Given the description of an element on the screen output the (x, y) to click on. 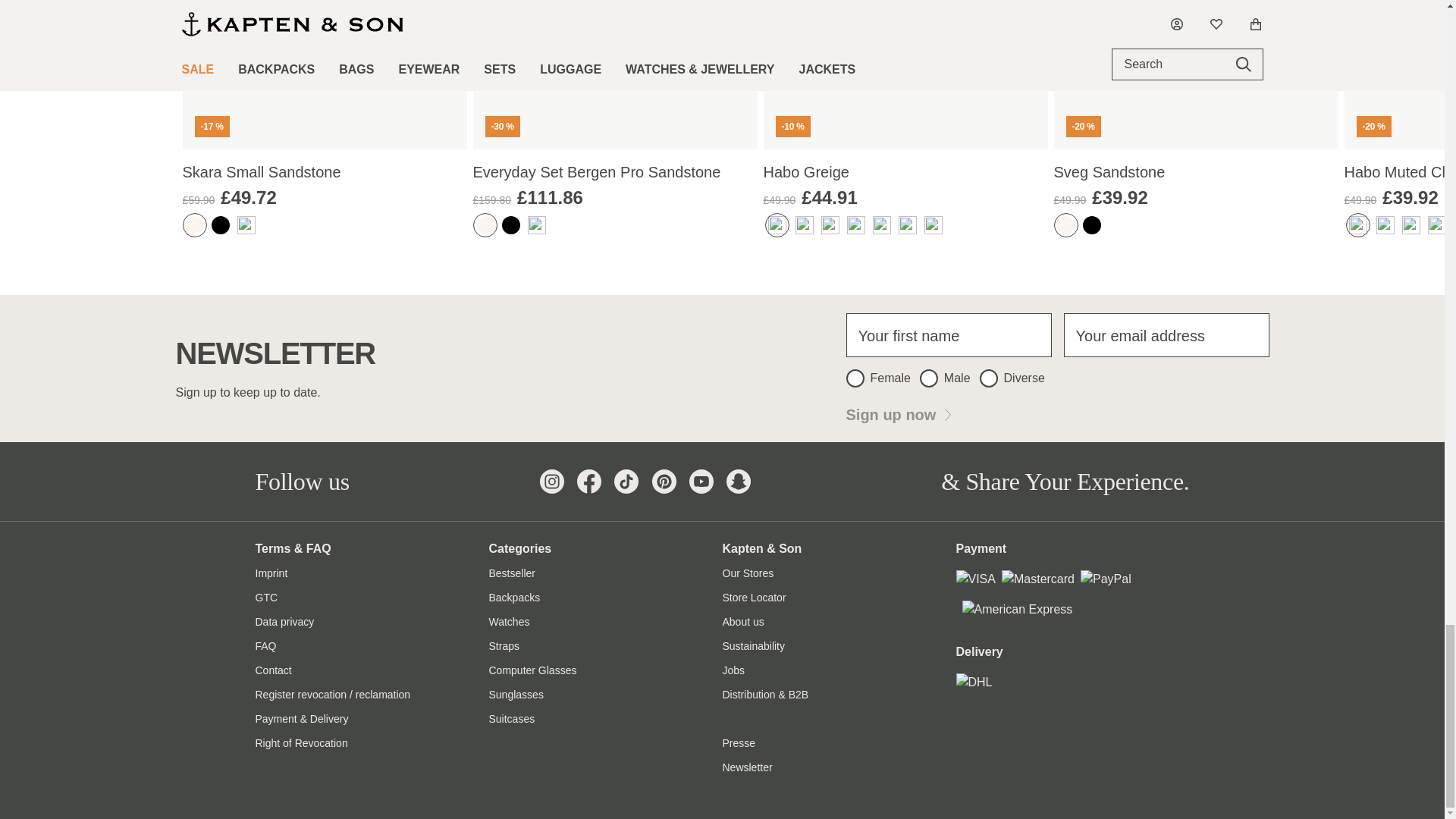
Skara Small Sandstone - Black (220, 225)
Everyday Set Bergen Pro Sandstone - Black (511, 225)
Skara Small Sandstone - Greige (245, 225)
Everyday Set Bergen Pro Sandstone - Sandstone (486, 225)
weiblich (854, 378)
diverse (988, 378)
Skara Small Sandstone - Sandstone (194, 225)
